Given the description of an element on the screen output the (x, y) to click on. 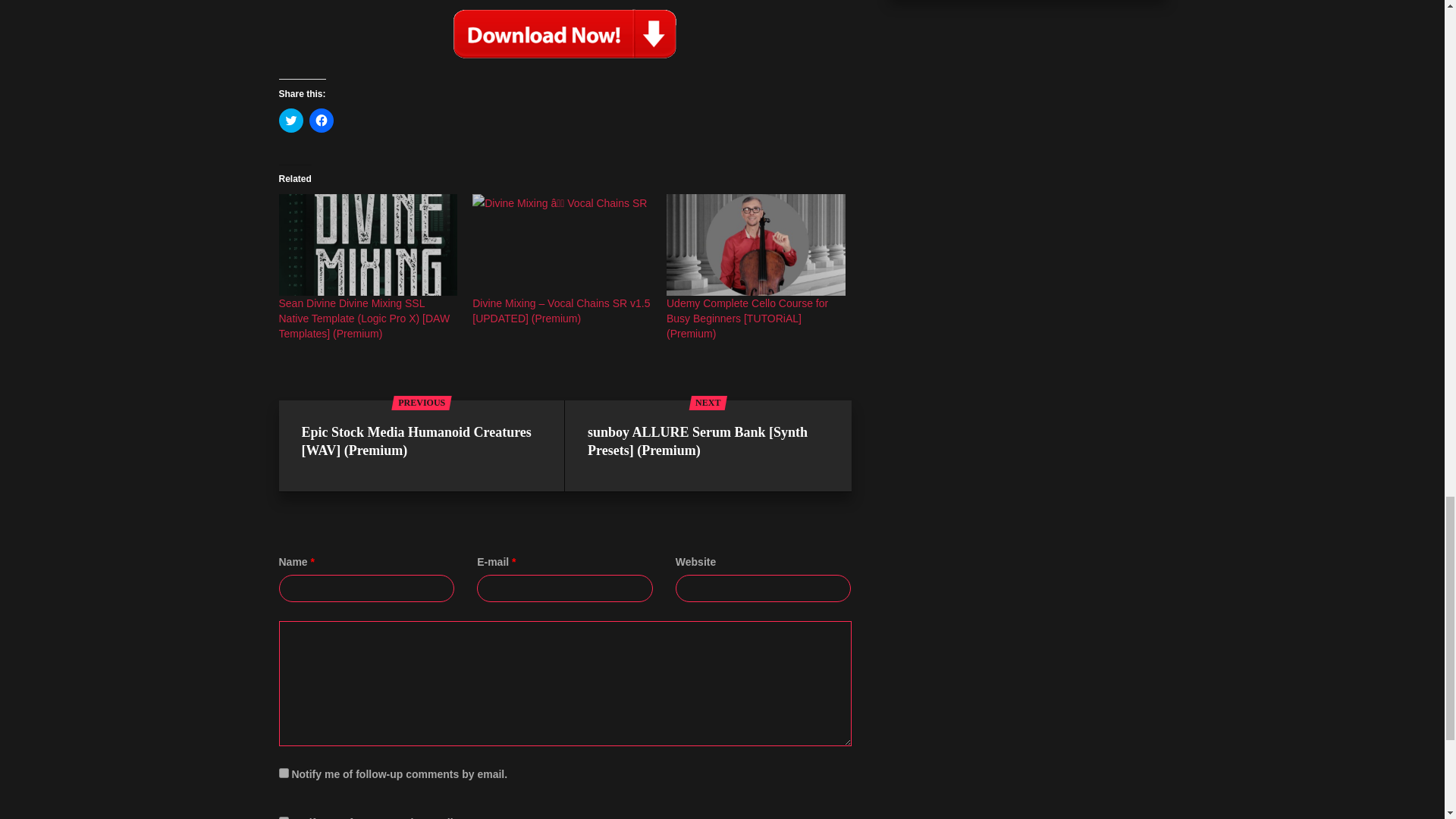
Click to share on Facebook (320, 120)
subscribe (283, 773)
Click to share on Twitter (290, 120)
